Given the description of an element on the screen output the (x, y) to click on. 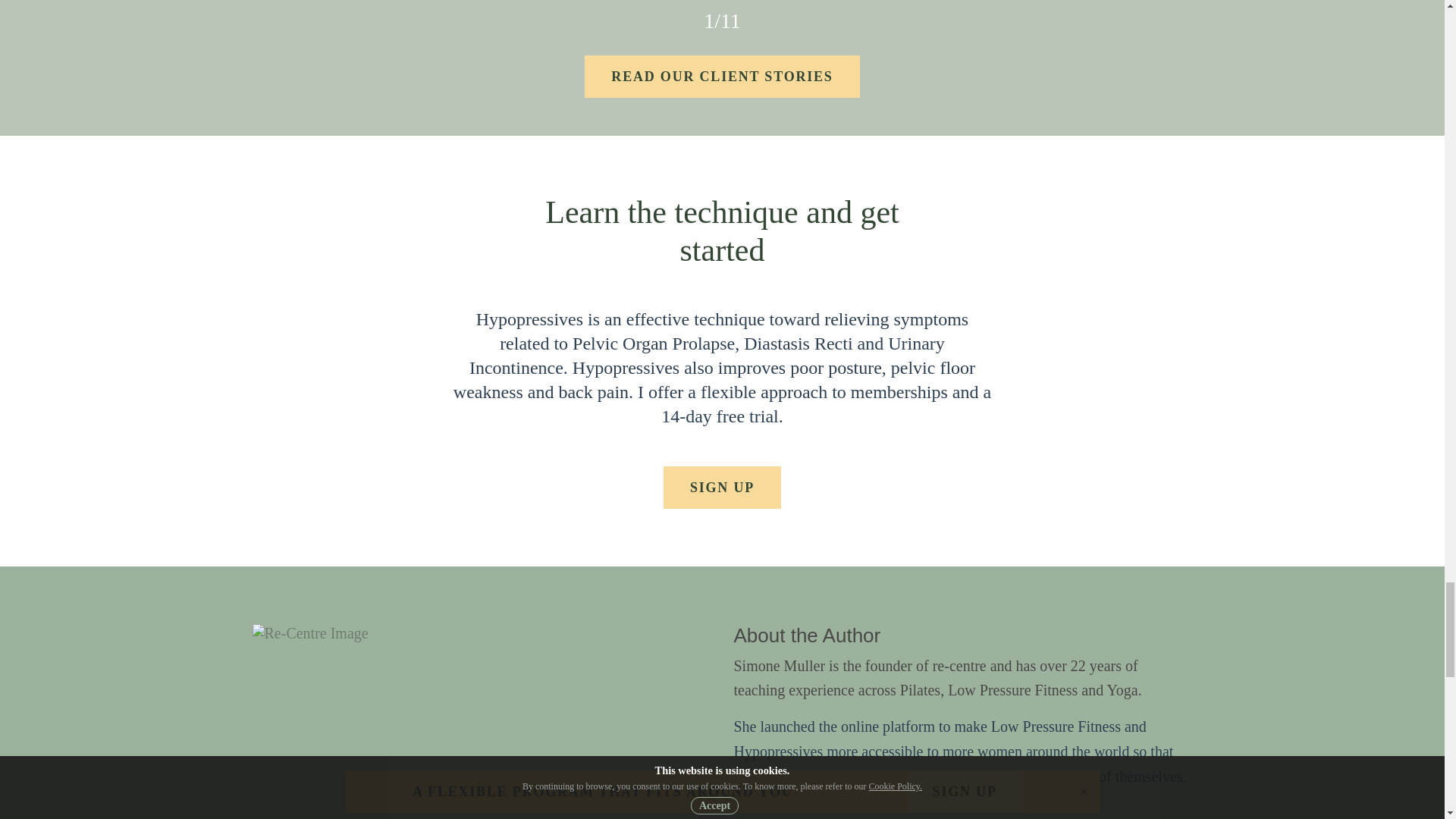
About the Author (806, 635)
SIGN UP (721, 487)
READ OUR CLIENT STORIES (722, 76)
